Given the description of an element on the screen output the (x, y) to click on. 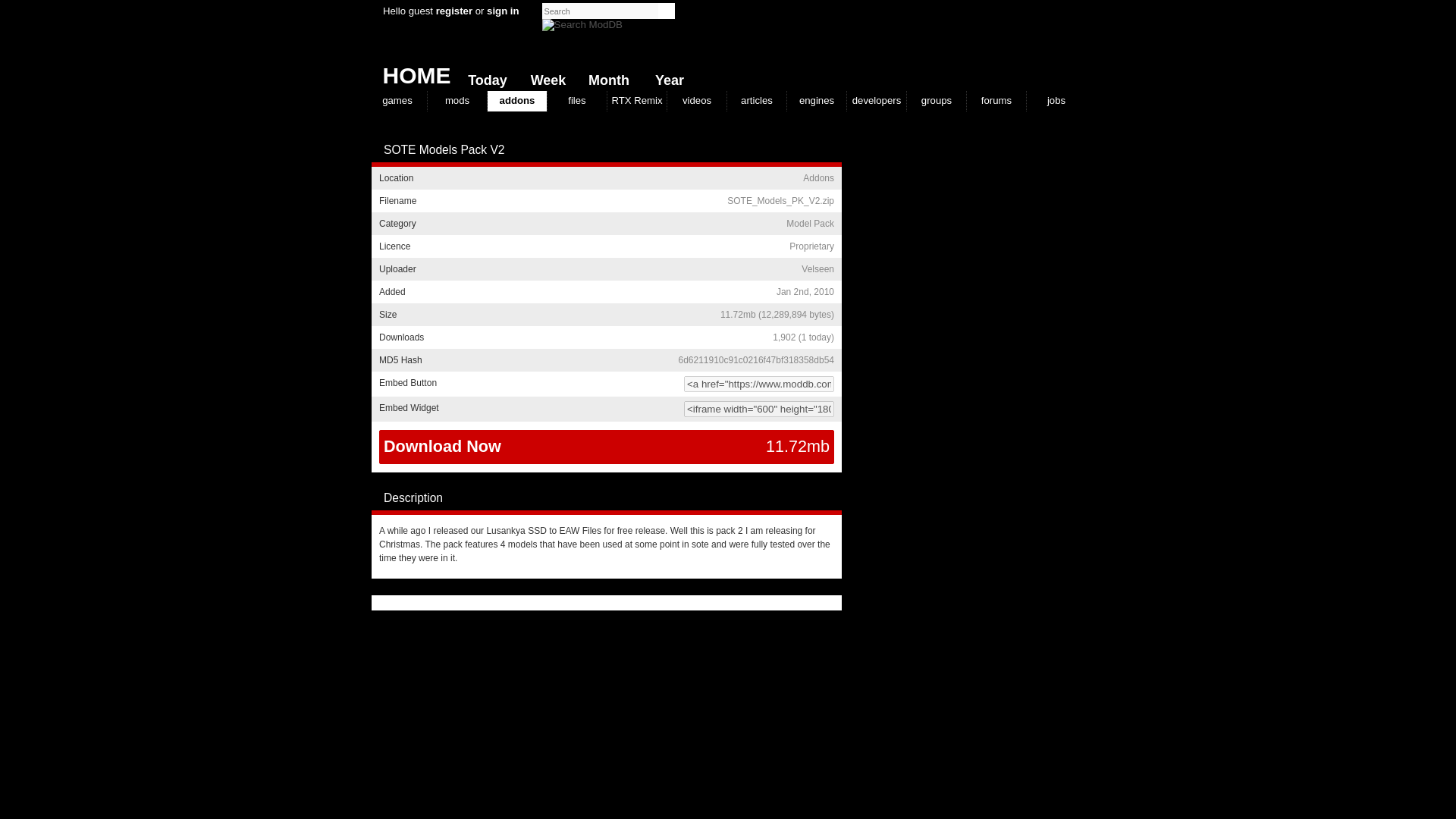
SOTE Models Pack V2 Statistics (803, 337)
Today (483, 76)
HOME (410, 71)
Embed the file using this HTML (606, 408)
New this week (545, 76)
Add addon (818, 150)
Share the file using this HTML (606, 383)
New this month (605, 76)
sign in (502, 10)
mods (457, 100)
